Given the description of an element on the screen output the (x, y) to click on. 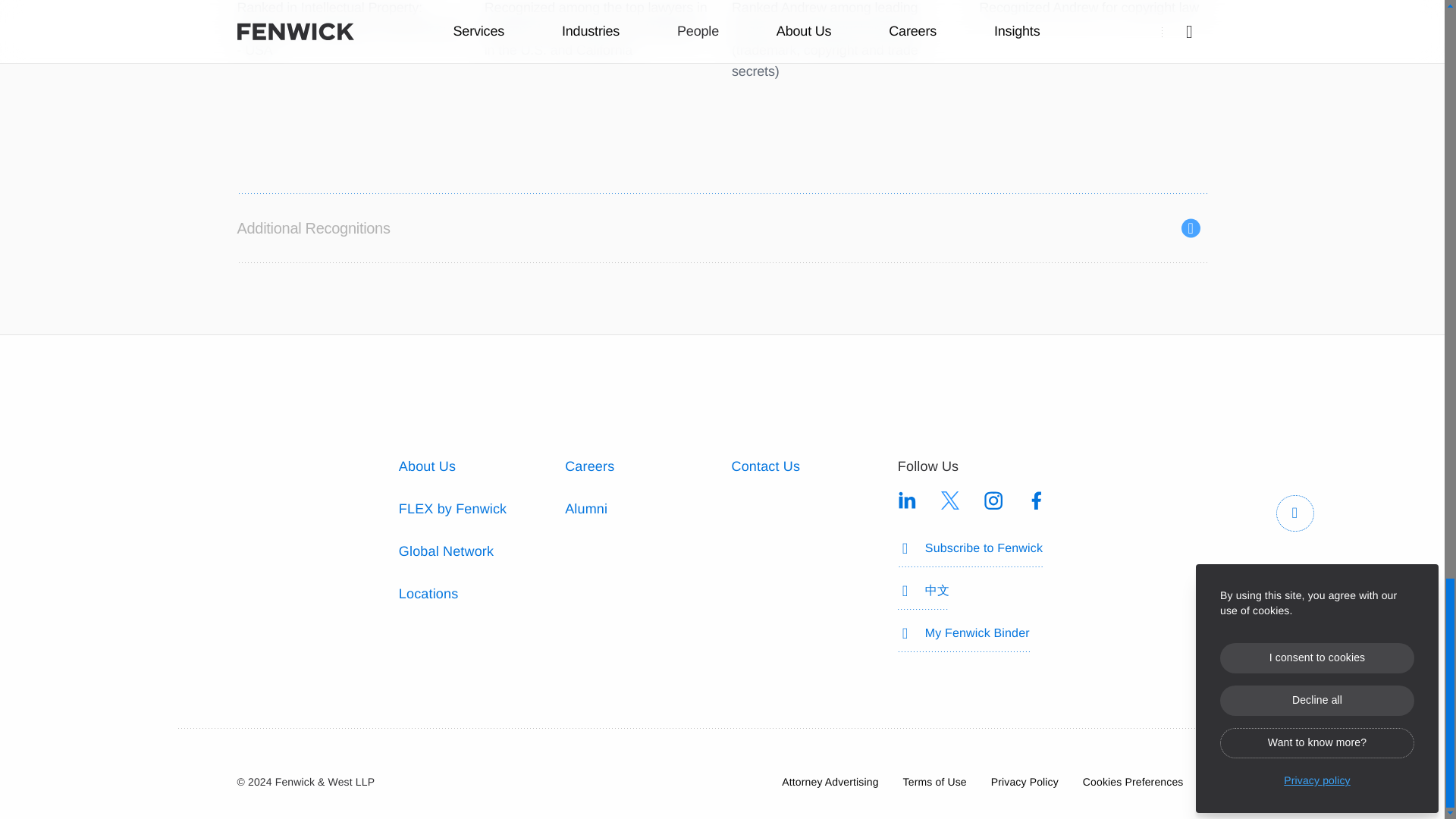
Global Network (445, 550)
About Us (426, 466)
Locations (428, 593)
Contact Us (764, 466)
Careers (589, 466)
FLEX by Fenwick (452, 508)
Alumni (585, 508)
